Given the description of an element on the screen output the (x, y) to click on. 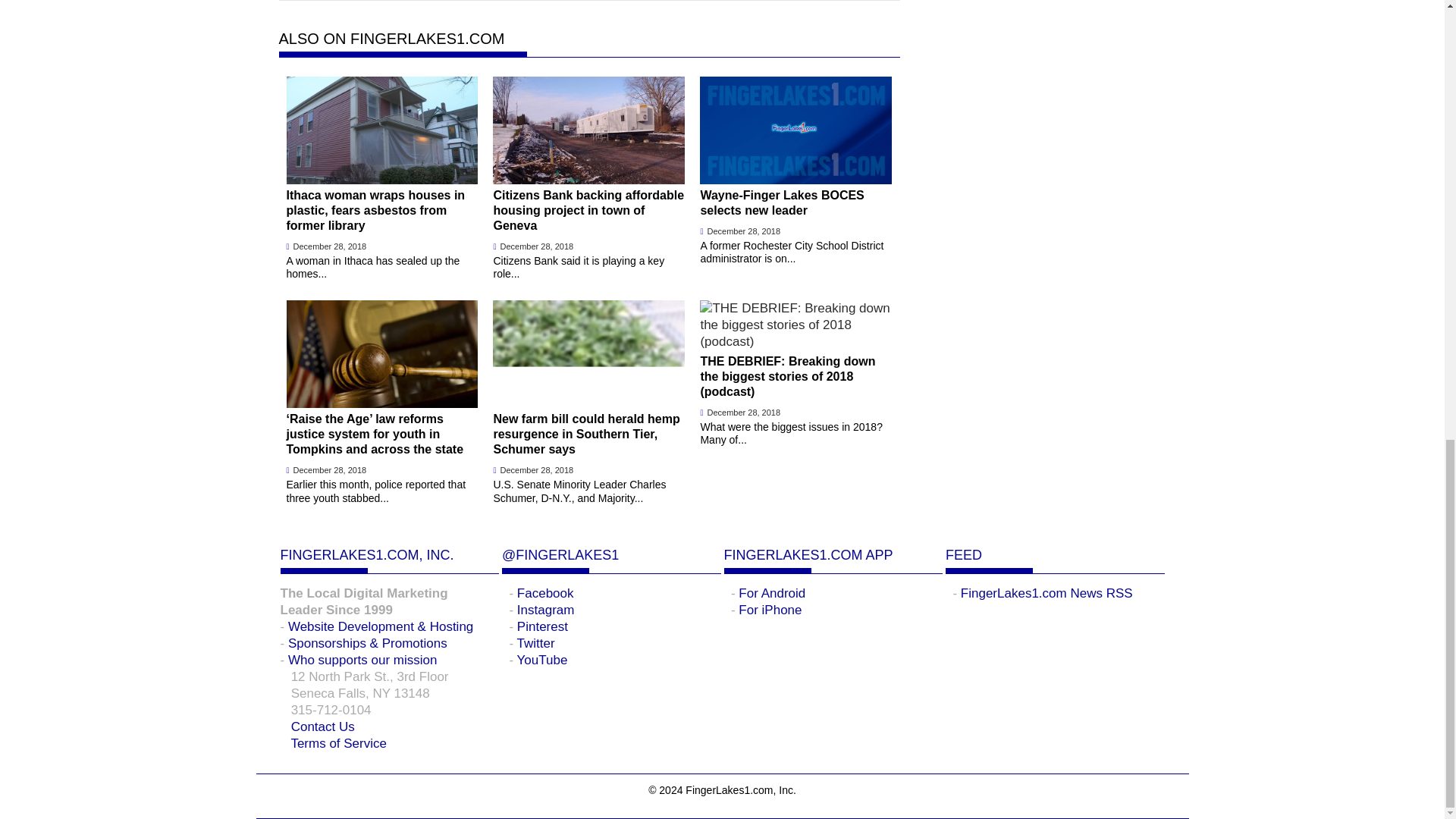
Wayne-Finger Lakes BOCES selects new leader (795, 156)
December 28, 2018 (330, 245)
December 28, 2018 (536, 245)
December 28, 2018 (743, 230)
December 28, 2018 (330, 470)
